Given the description of an element on the screen output the (x, y) to click on. 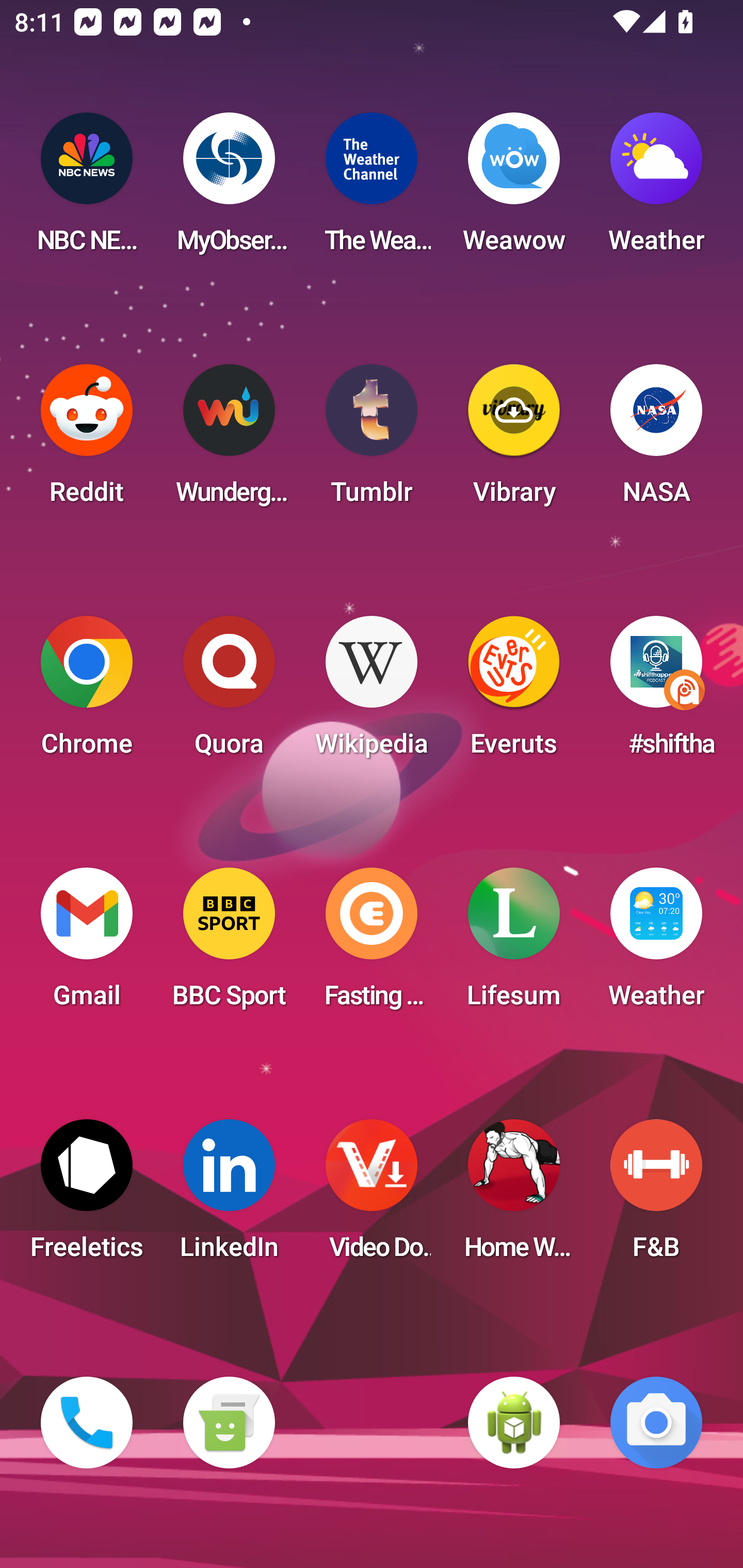
NBC NEWS (86, 188)
MyObservatory (228, 188)
The Weather Channel (371, 188)
Weawow (513, 188)
Weather (656, 188)
Reddit (86, 440)
Wunderground (228, 440)
Tumblr (371, 440)
Vibrary (513, 440)
NASA (656, 440)
Chrome (86, 692)
Quora (228, 692)
Wikipedia (371, 692)
Everuts (513, 692)
#shifthappens in the Digital Workplace Podcast (656, 692)
Gmail (86, 943)
BBC Sport (228, 943)
Fasting Coach (371, 943)
Lifesum (513, 943)
Weather (656, 943)
Freeletics (86, 1195)
LinkedIn (228, 1195)
Video Downloader & Ace Player (371, 1195)
Home Workout (513, 1195)
F&B (656, 1195)
Phone (86, 1422)
Messaging (228, 1422)
WebView Browser Tester (513, 1422)
Camera (656, 1422)
